Given the description of an element on the screen output the (x, y) to click on. 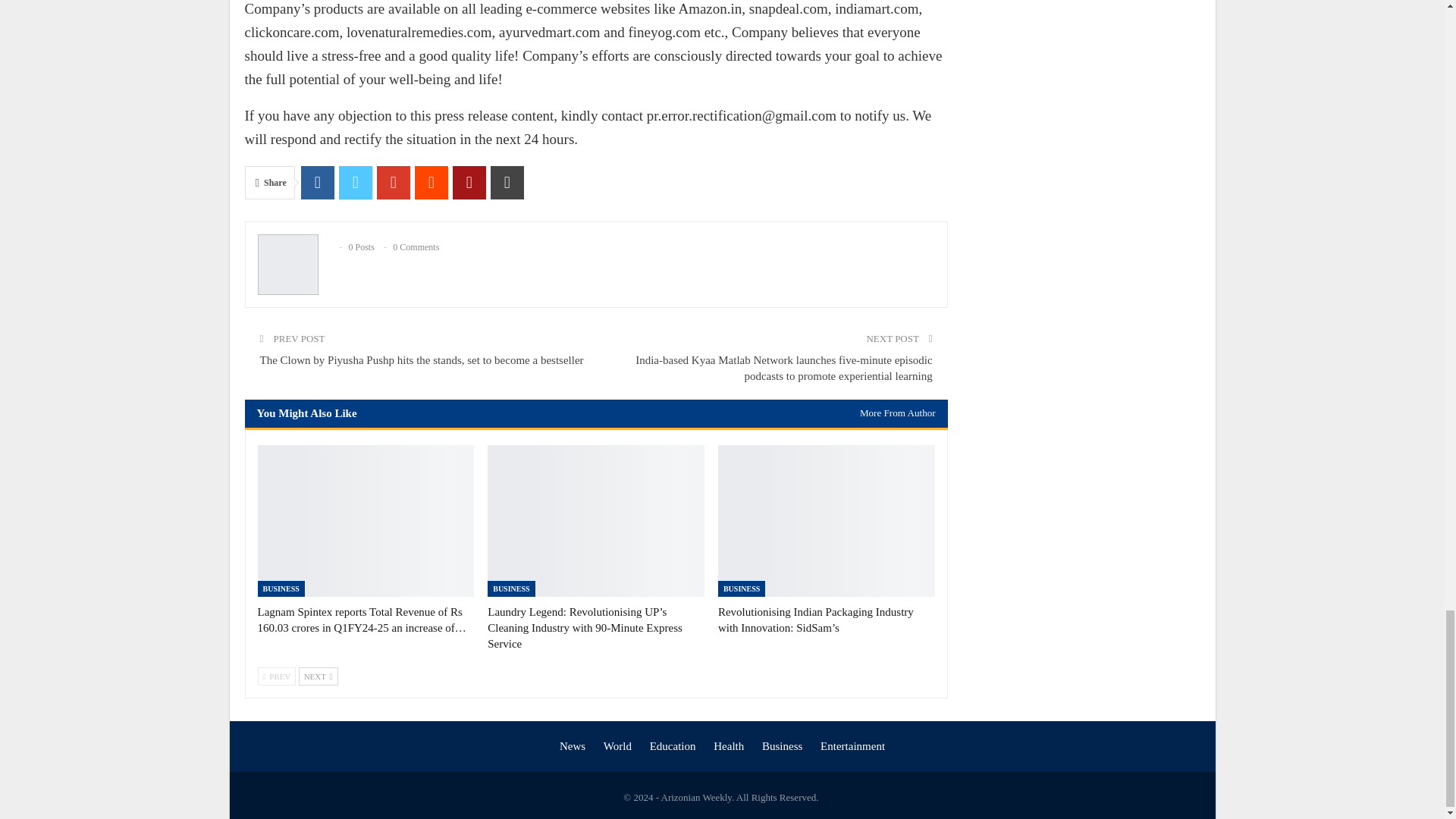
Previous (277, 676)
Next (317, 676)
